Given the description of an element on the screen output the (x, y) to click on. 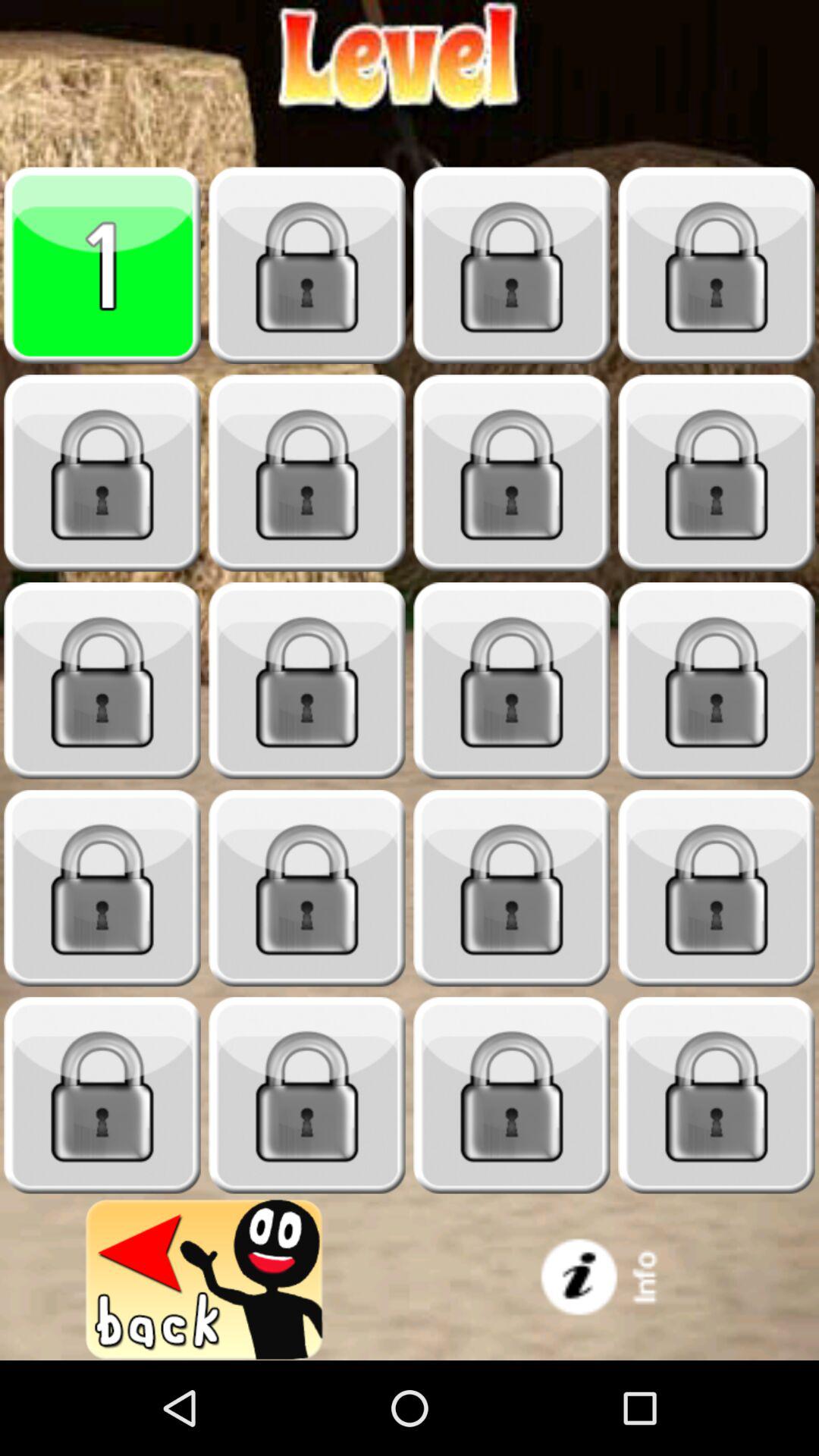
open level (102, 887)
